Given the description of an element on the screen output the (x, y) to click on. 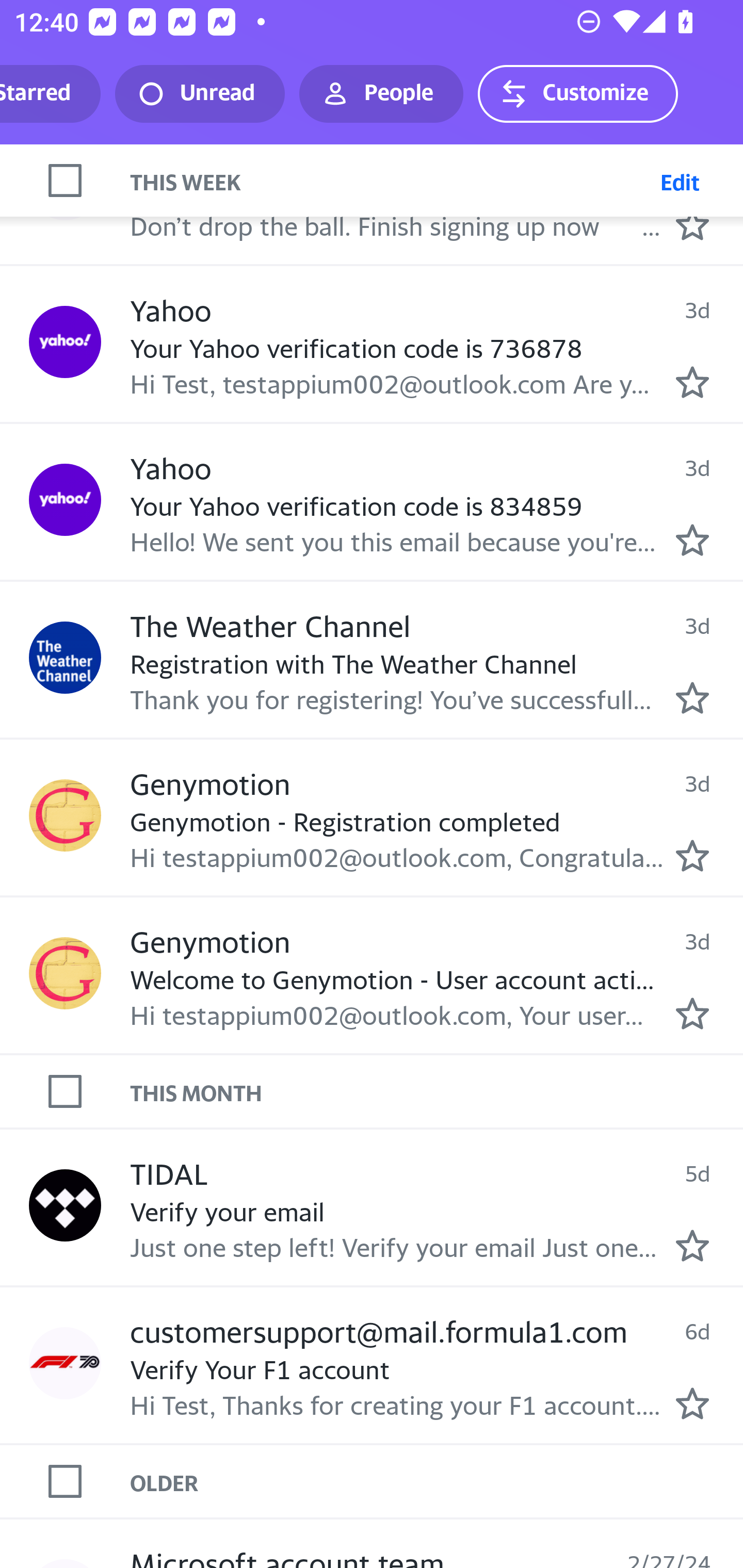
Unread (199, 93)
People (381, 93)
Customize (577, 93)
Profile
NBA (64, 183)
Mark as starred. (692, 224)
Profile
Yahoo (64, 341)
Mark as starred. (692, 381)
Profile
Yahoo (64, 500)
Mark as starred. (692, 540)
Profile
The Weather Channel (64, 656)
Mark as starred. (692, 698)
Profile
Genymotion (64, 815)
Mark as starred. (692, 855)
Profile
Genymotion (64, 973)
Mark as starred. (692, 1013)
THIS MONTH (436, 1091)
Profile
TIDAL (64, 1205)
Mark as starred. (692, 1245)
Profile
customersupport@mail.formula1.com (64, 1362)
Mark as starred. (692, 1404)
OLDER (436, 1480)
